Given the description of an element on the screen output the (x, y) to click on. 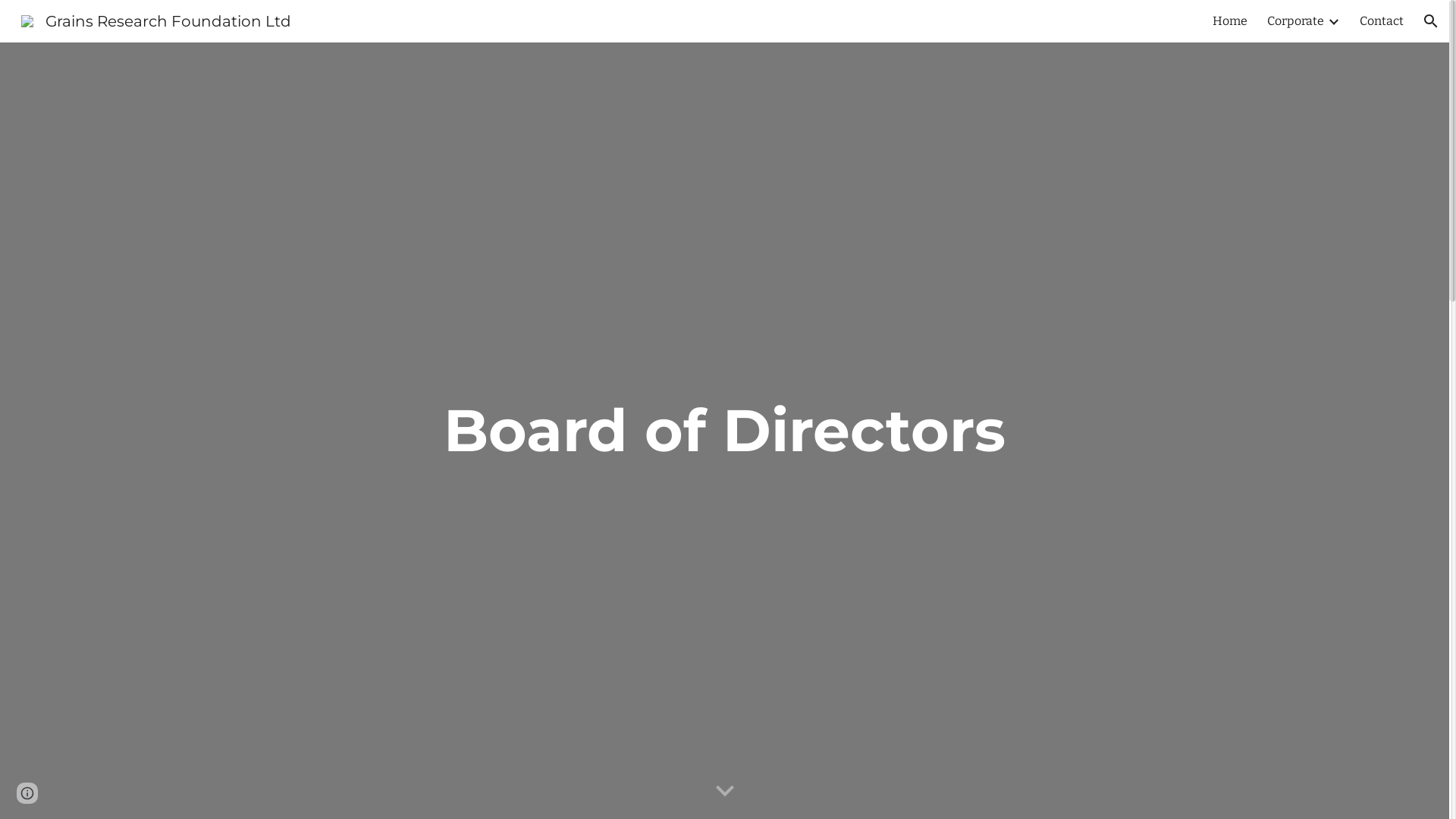
Expand/Collapse Element type: hover (1332, 20)
Contact Element type: text (1381, 20)
Corporate Element type: text (1295, 20)
Home Element type: text (1229, 20)
Grains Research Foundation Ltd Element type: text (156, 19)
